Given the description of an element on the screen output the (x, y) to click on. 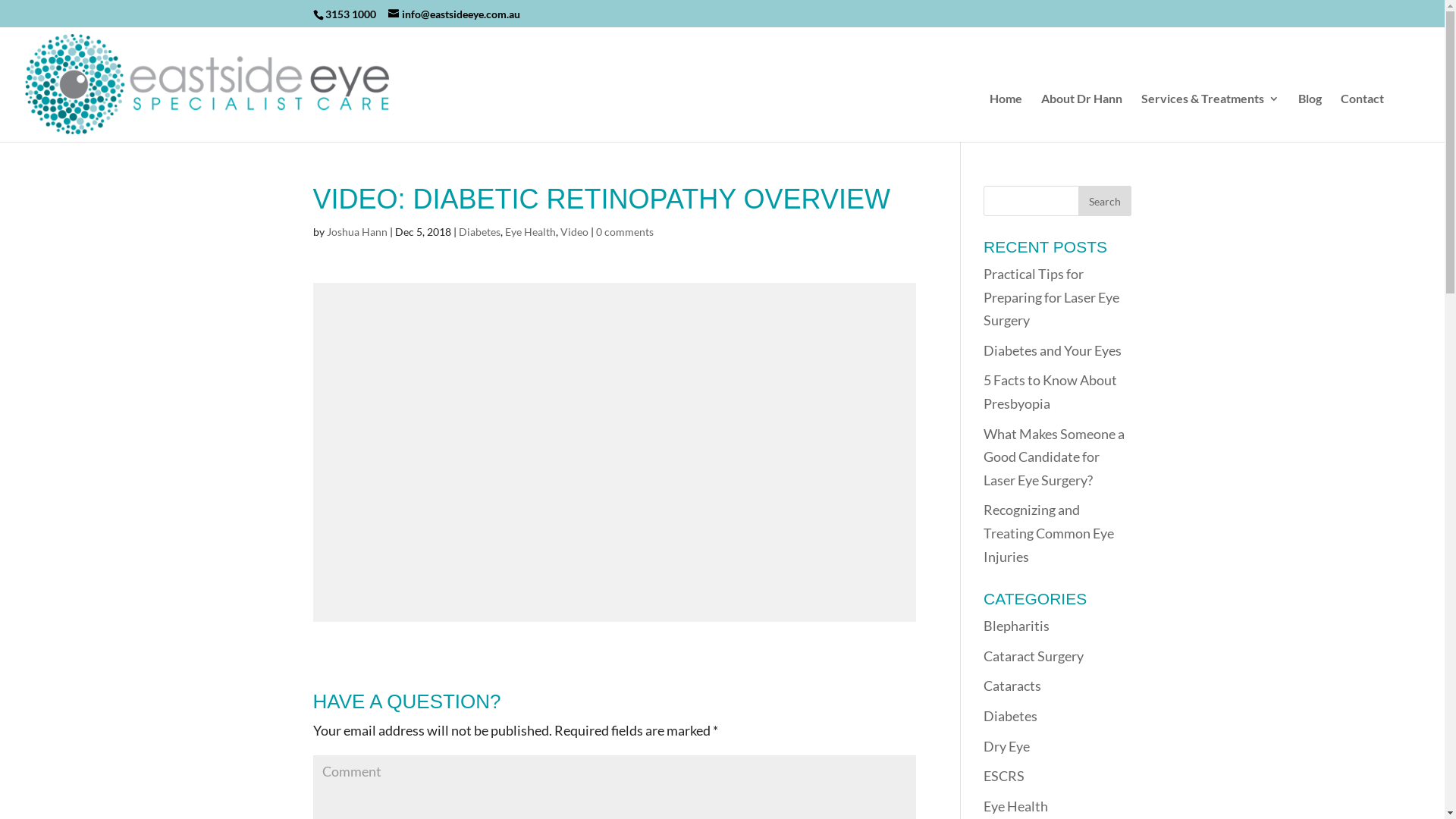
0 comments Element type: text (624, 231)
Blepharitis Element type: text (1016, 625)
5 Facts to Know About Presbyopia Element type: text (1050, 391)
Joshua Hann Element type: text (356, 231)
Eye Health Element type: text (530, 231)
Contact Element type: text (1361, 117)
Search Element type: text (1104, 200)
ESCRS Element type: text (1003, 775)
Diabetes Element type: text (478, 231)
About Dr Hann Element type: text (1081, 117)
Services & Treatments Element type: text (1210, 117)
Recognizing and Treating Common Eye Injuries Element type: text (1048, 532)
Practical Tips for Preparing for Laser Eye Surgery Element type: text (1051, 296)
Dry Eye Element type: text (1006, 745)
3153 1000 Element type: text (349, 13)
Video Element type: text (573, 231)
Home Element type: text (1005, 117)
Cataracts Element type: text (1012, 685)
Diabetes and Your Eyes Element type: text (1052, 350)
Eye Health Element type: text (1015, 805)
What Makes Someone a Good Candidate for Laser Eye Surgery? Element type: text (1053, 456)
Cataract Surgery Element type: text (1033, 655)
info@eastsideeye.com.au Element type: text (454, 13)
Blog Element type: text (1309, 117)
Diabetes Element type: text (1010, 715)
Embed - Diabetic Retinopathy: Overview Element type: hover (613, 451)
